Given the description of an element on the screen output the (x, y) to click on. 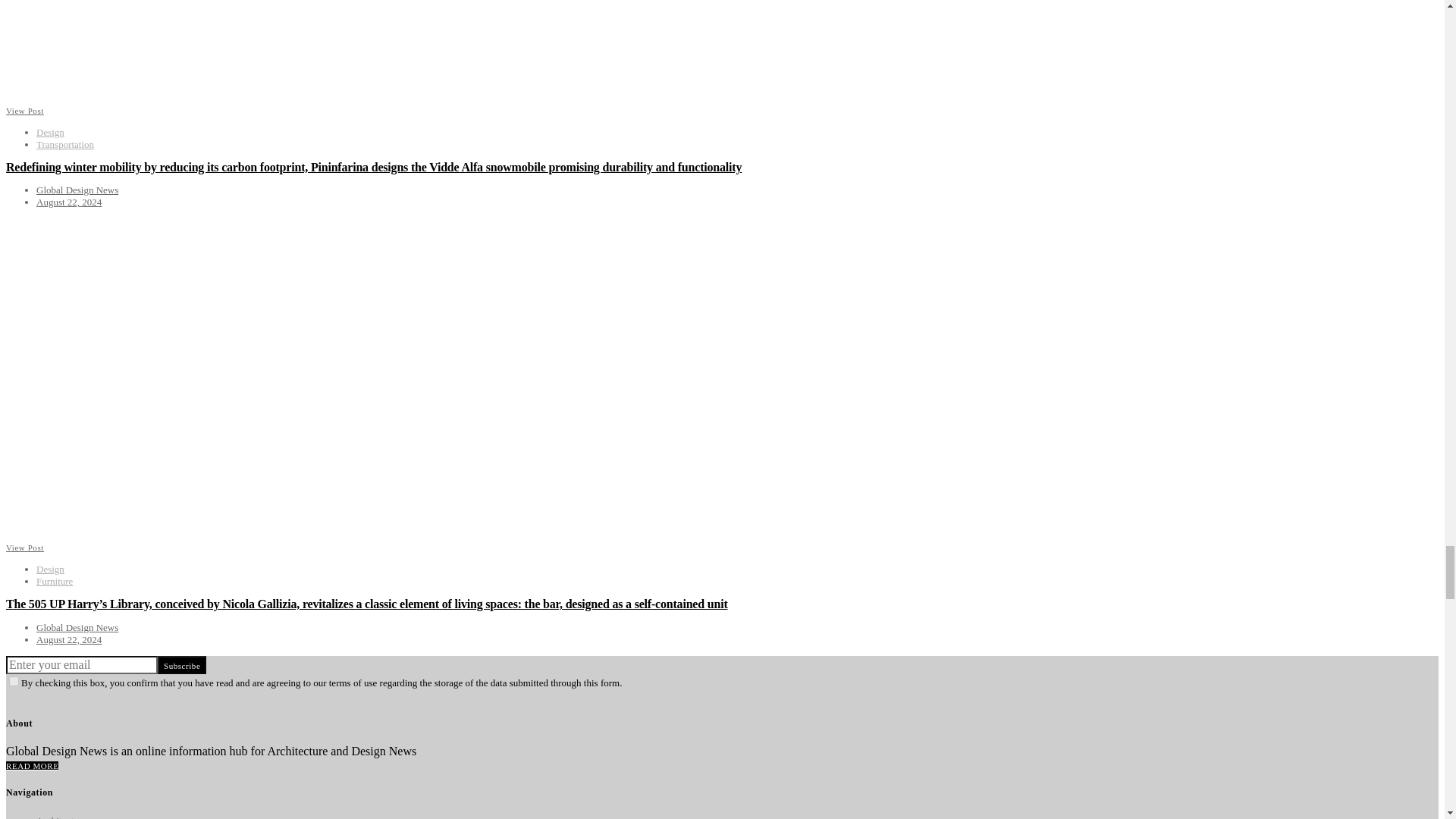
on (13, 681)
View all posts by Global Design News (76, 189)
View all posts by Global Design News (76, 627)
